Given the description of an element on the screen output the (x, y) to click on. 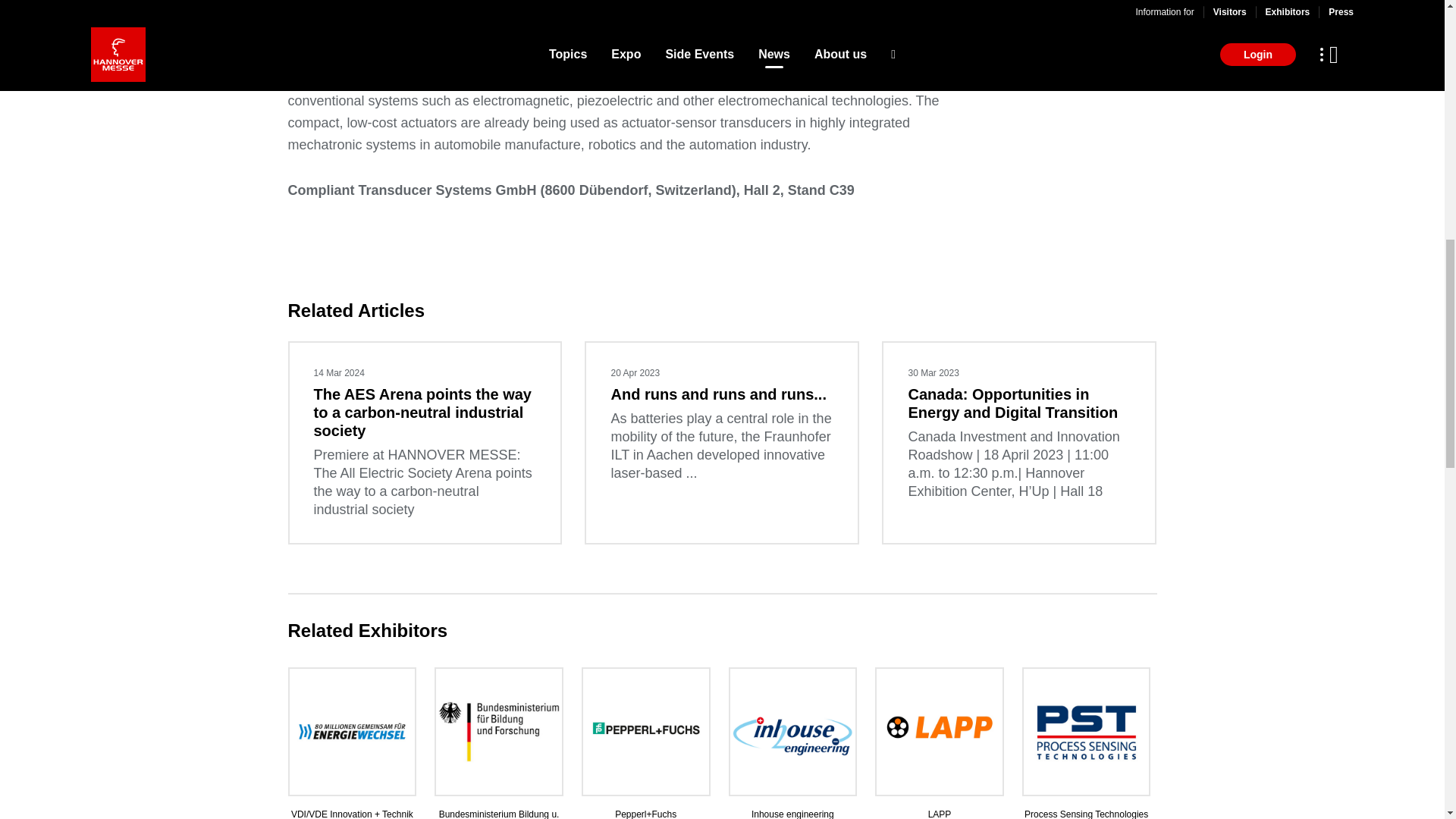
Process Sensing Technologies (1086, 743)
Inhouse engineering (792, 743)
LAPP (939, 743)
Bundesministerium Bildung u. Forschung (498, 743)
